Given the description of an element on the screen output the (x, y) to click on. 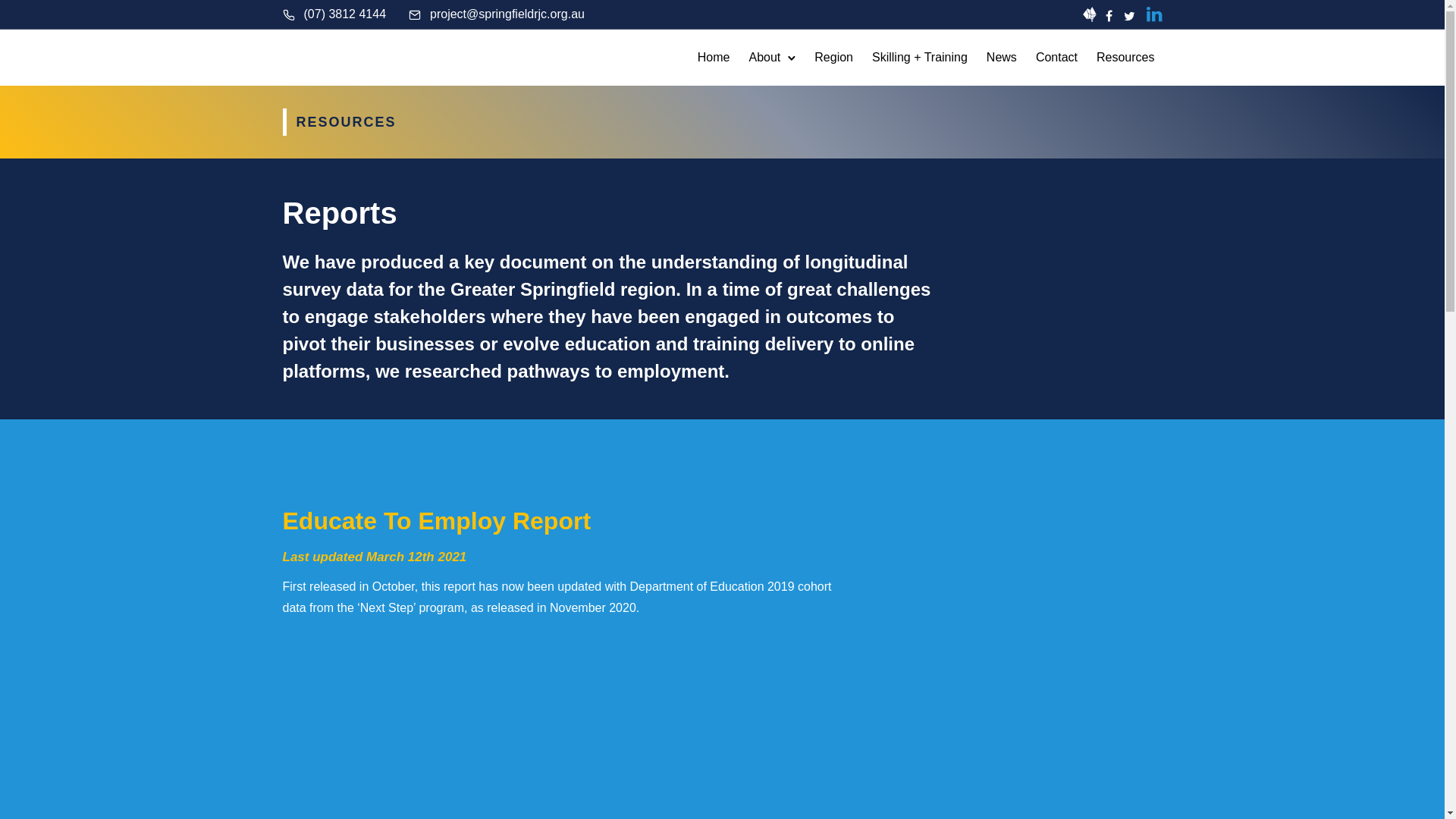
Region Element type: text (833, 57)
(07) 3812 4144 Element type: text (344, 13)
project@springfieldrjc.org.au Element type: text (506, 13)
Resources Element type: text (1124, 57)
Home Element type: text (713, 57)
Skilling + Training Element type: text (919, 57)
About Element type: text (764, 57)
Contact Element type: text (1056, 57)
News Element type: text (1001, 57)
